Given the description of an element on the screen output the (x, y) to click on. 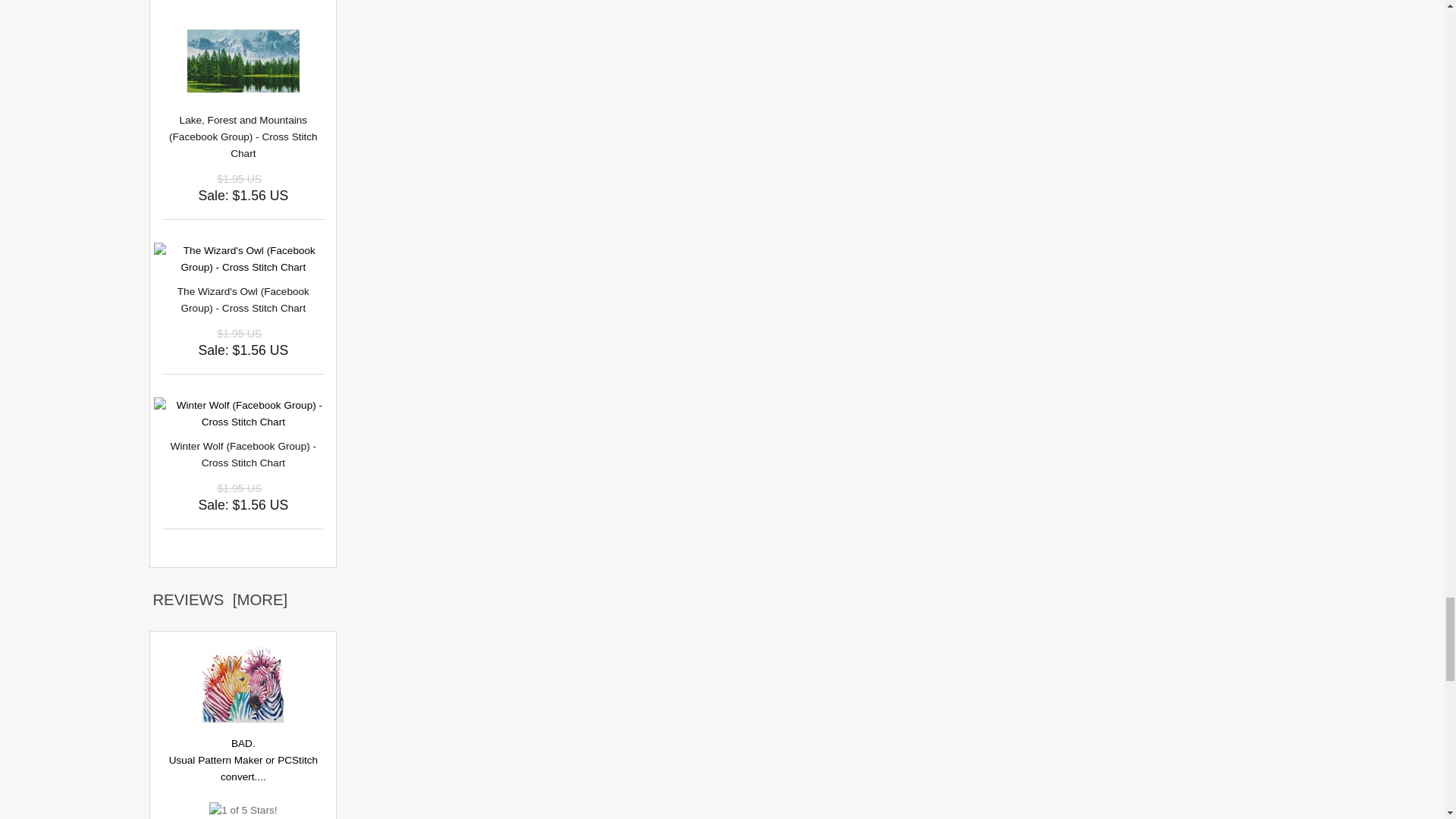
Colourful Zebras - Cross Stitch Chart (242, 684)
1 of 5 Stars! (242, 810)
